Given the description of an element on the screen output the (x, y) to click on. 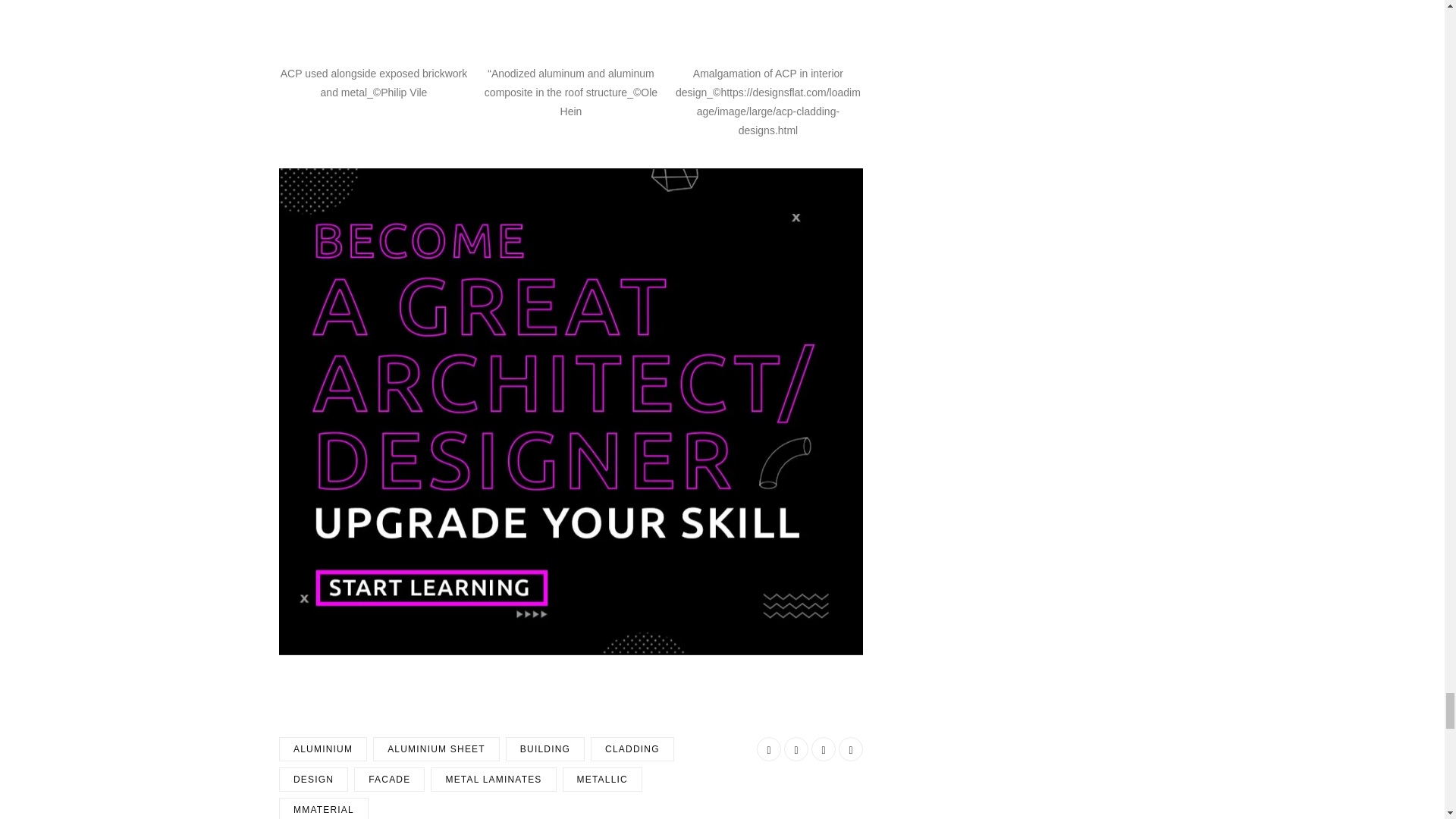
LinkedIn (822, 749)
Share on Twitter (796, 749)
Pinterest (850, 749)
Share on Facebook (768, 749)
